Given the description of an element on the screen output the (x, y) to click on. 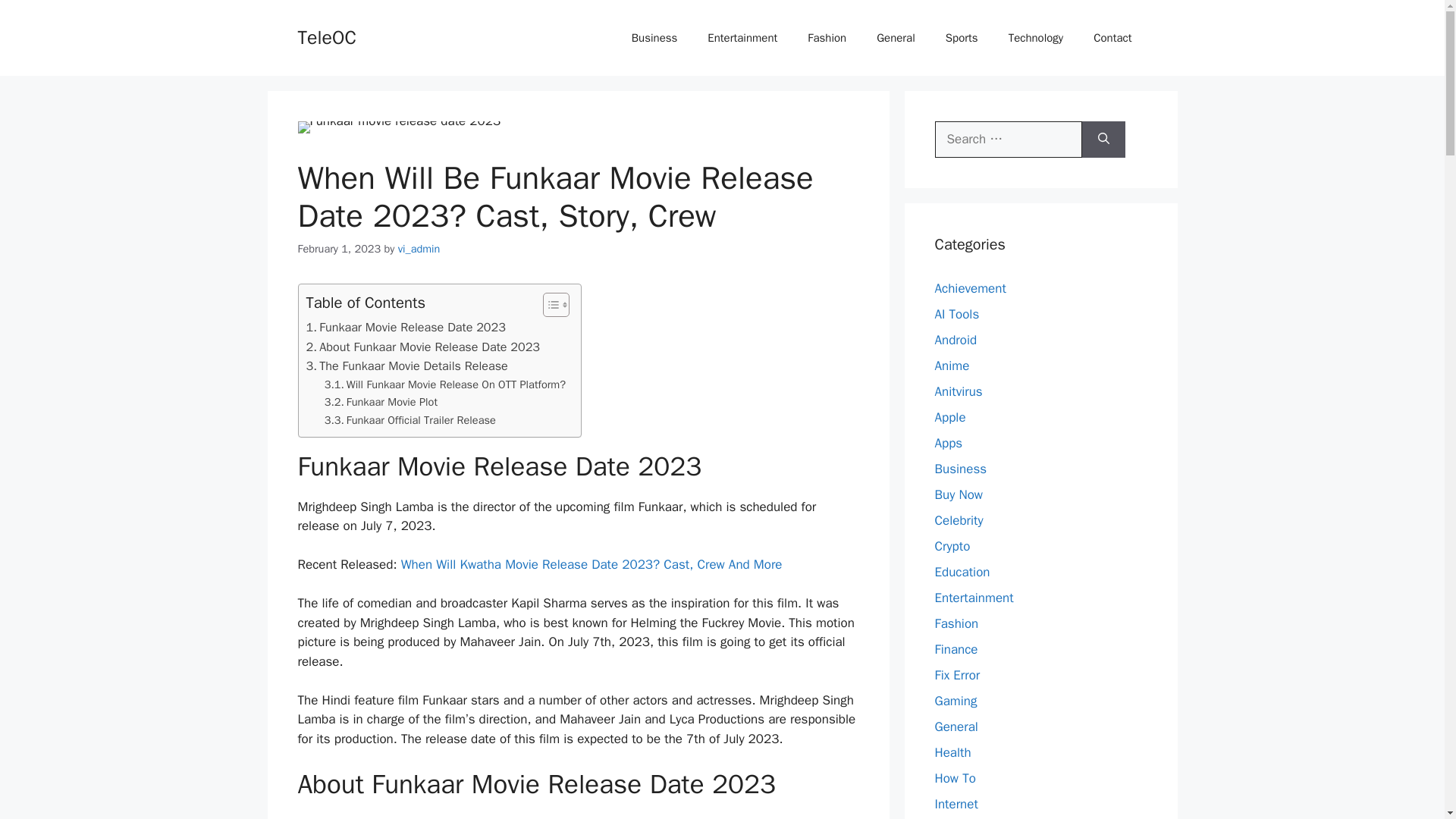
Apple (949, 417)
About Funkaar Movie Release Date 2023 (422, 347)
Sports (961, 37)
Entertainment (742, 37)
TeleOC (326, 37)
Contact (1112, 37)
Will Funkaar Movie Release On OTT Platform? (445, 384)
Funkaar Movie Plot (381, 402)
Search for: (1007, 139)
